Given the description of an element on the screen output the (x, y) to click on. 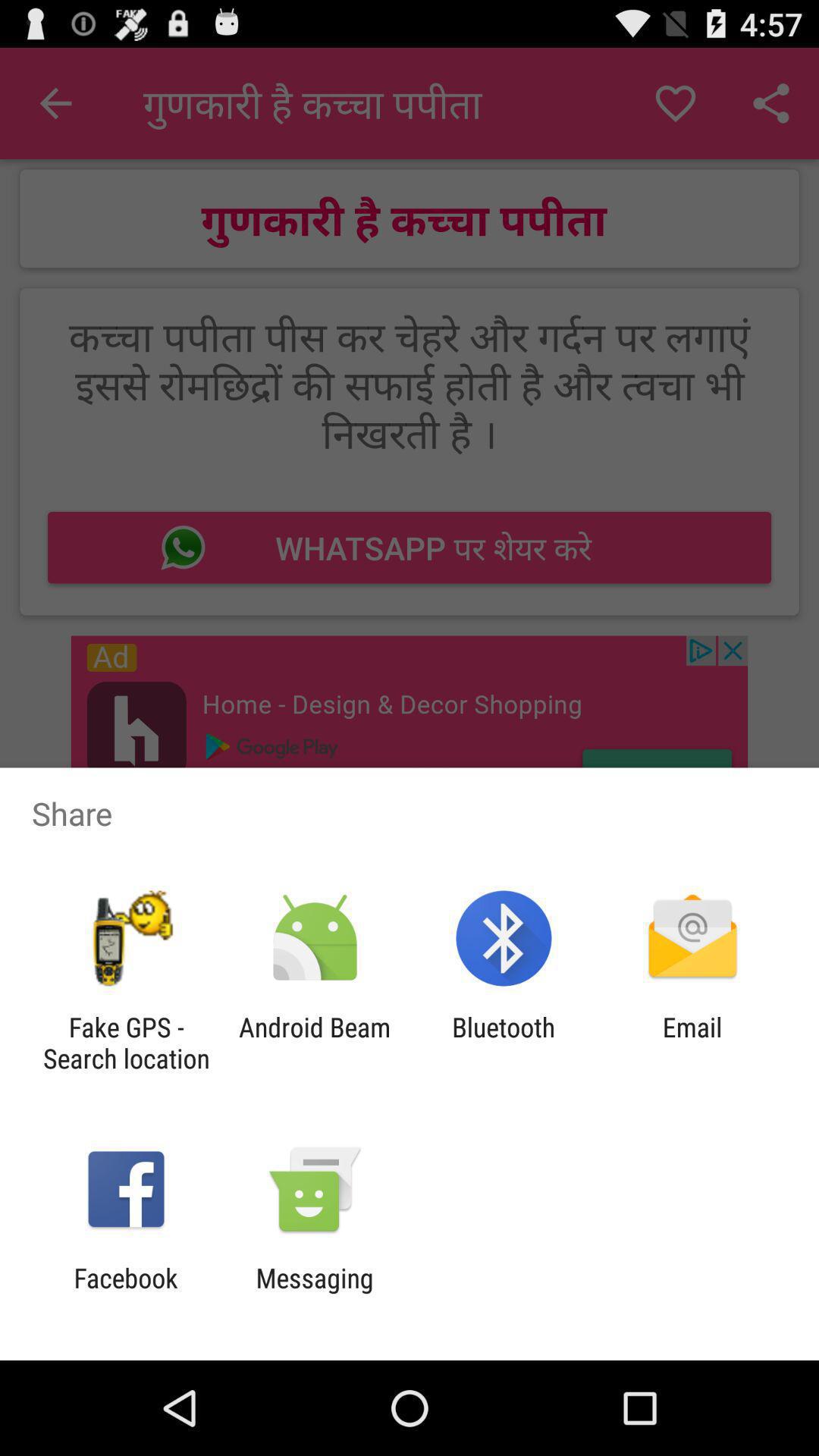
jump to the fake gps search (125, 1042)
